Given the description of an element on the screen output the (x, y) to click on. 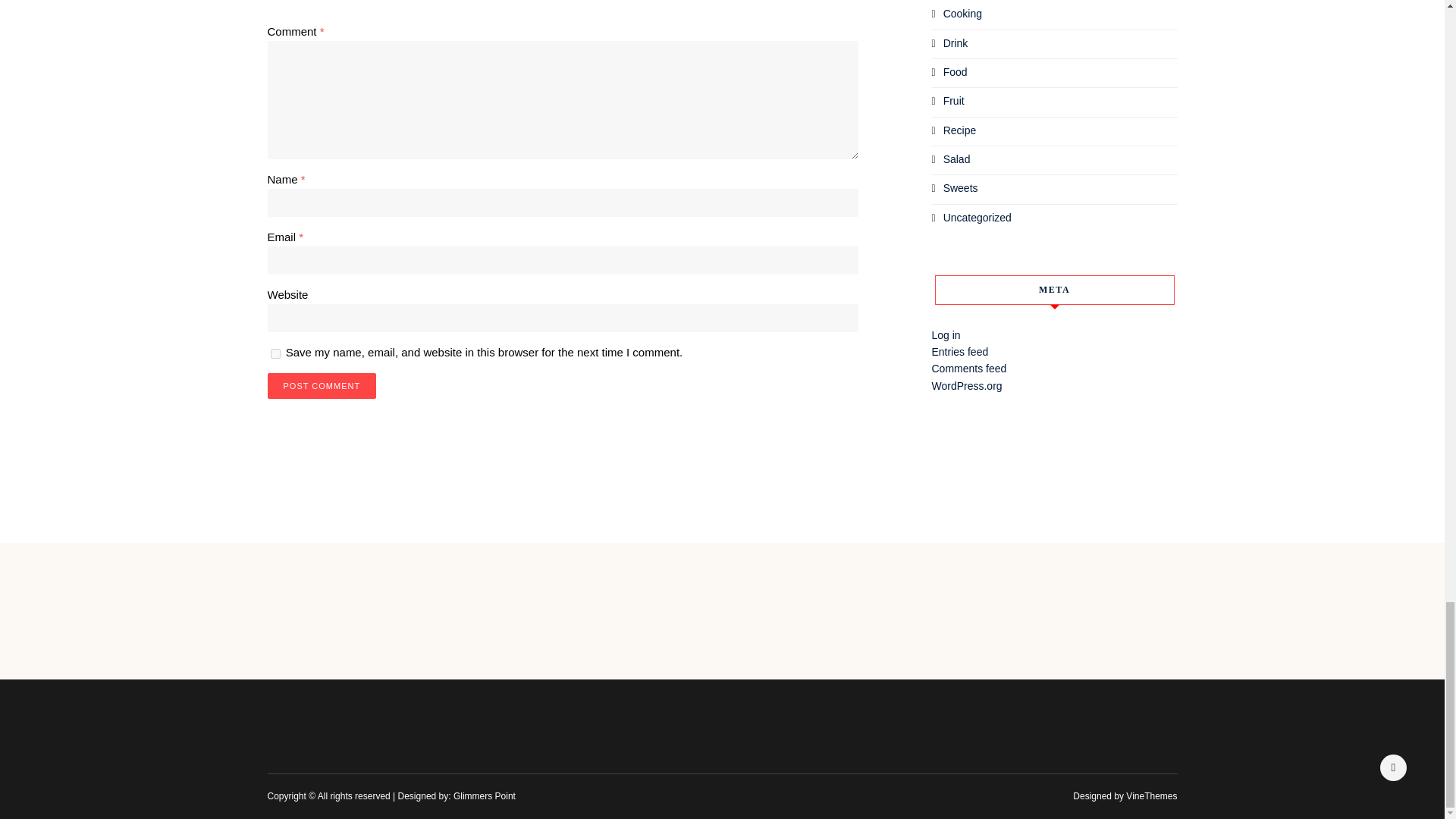
Post Comment (320, 385)
yes (274, 353)
Post Comment (320, 385)
